Given the description of an element on the screen output the (x, y) to click on. 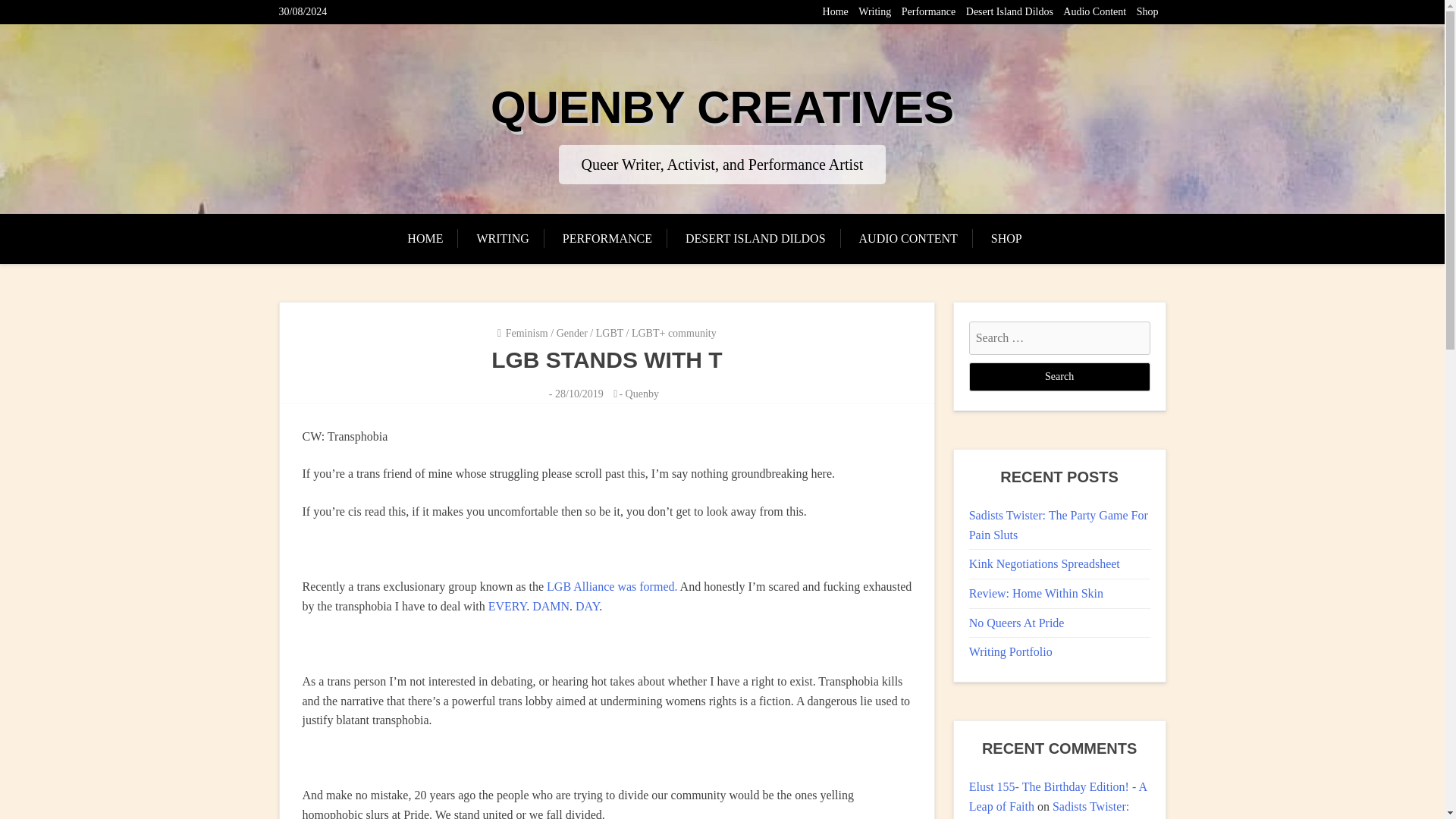
Review: Home Within Skin (1036, 593)
Kink Negotiations Spreadsheet (1044, 563)
No Queers At Pride (1016, 622)
Audio Content (1093, 11)
Search (1059, 376)
QUENBY CREATIVES (721, 106)
Feminism (526, 333)
Elust 155- The Birthday Edition! - A Leap of Faith (1058, 796)
LGBT (609, 333)
Search (1059, 376)
